Given the description of an element on the screen output the (x, y) to click on. 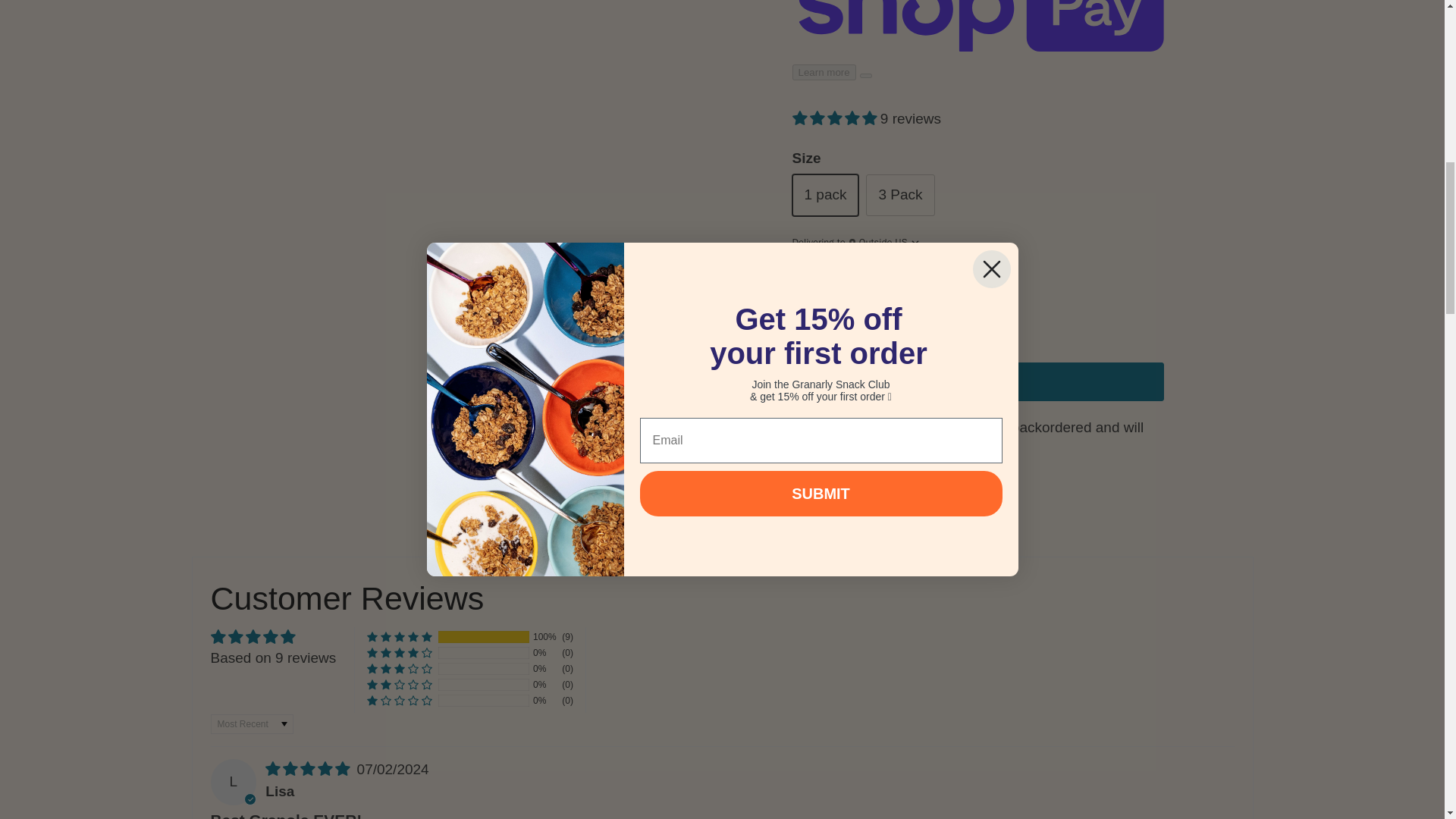
1 (853, 313)
Minus (809, 313)
Plus (897, 313)
